Given the description of an element on the screen output the (x, y) to click on. 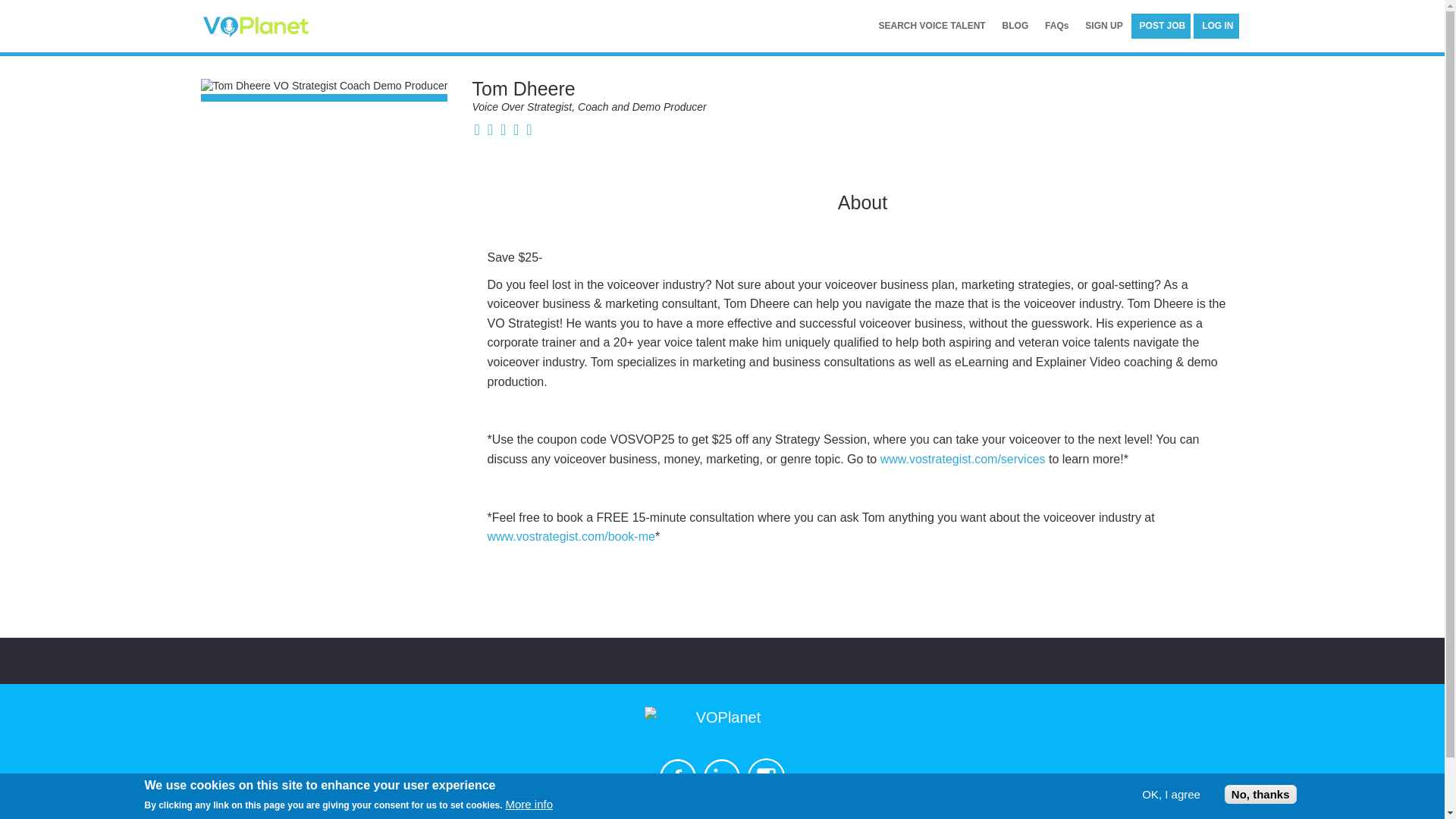
SIGN UP (1103, 25)
SEARCH VOICE TALENT (932, 25)
LOG IN (1217, 25)
Search the VOPlanet Voice Talent Directory (932, 25)
BLOG (1015, 25)
OK, I agree (1171, 794)
Launch a Project (593, 815)
No, thanks (1260, 793)
VOPlanet.com Voice Buyer and Voice Actor FAQs (1056, 25)
FAQs (1056, 25)
POST JOB (1162, 25)
Talent Sign Up (688, 815)
Post a Job and Get Auditions Fast! (1162, 25)
